Given the description of an element on the screen output the (x, y) to click on. 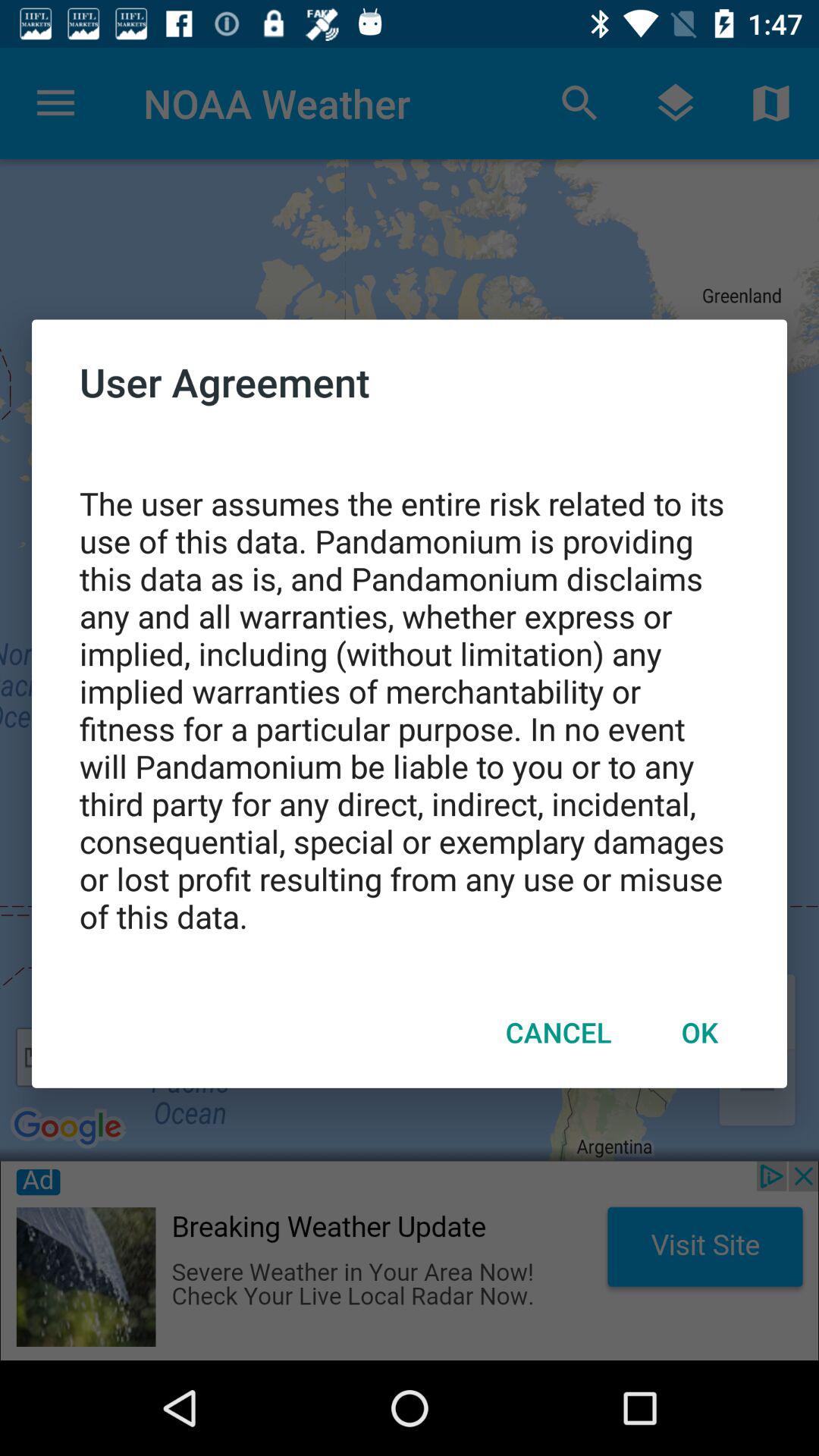
press the icon below the the user assumes (558, 1032)
